Given the description of an element on the screen output the (x, y) to click on. 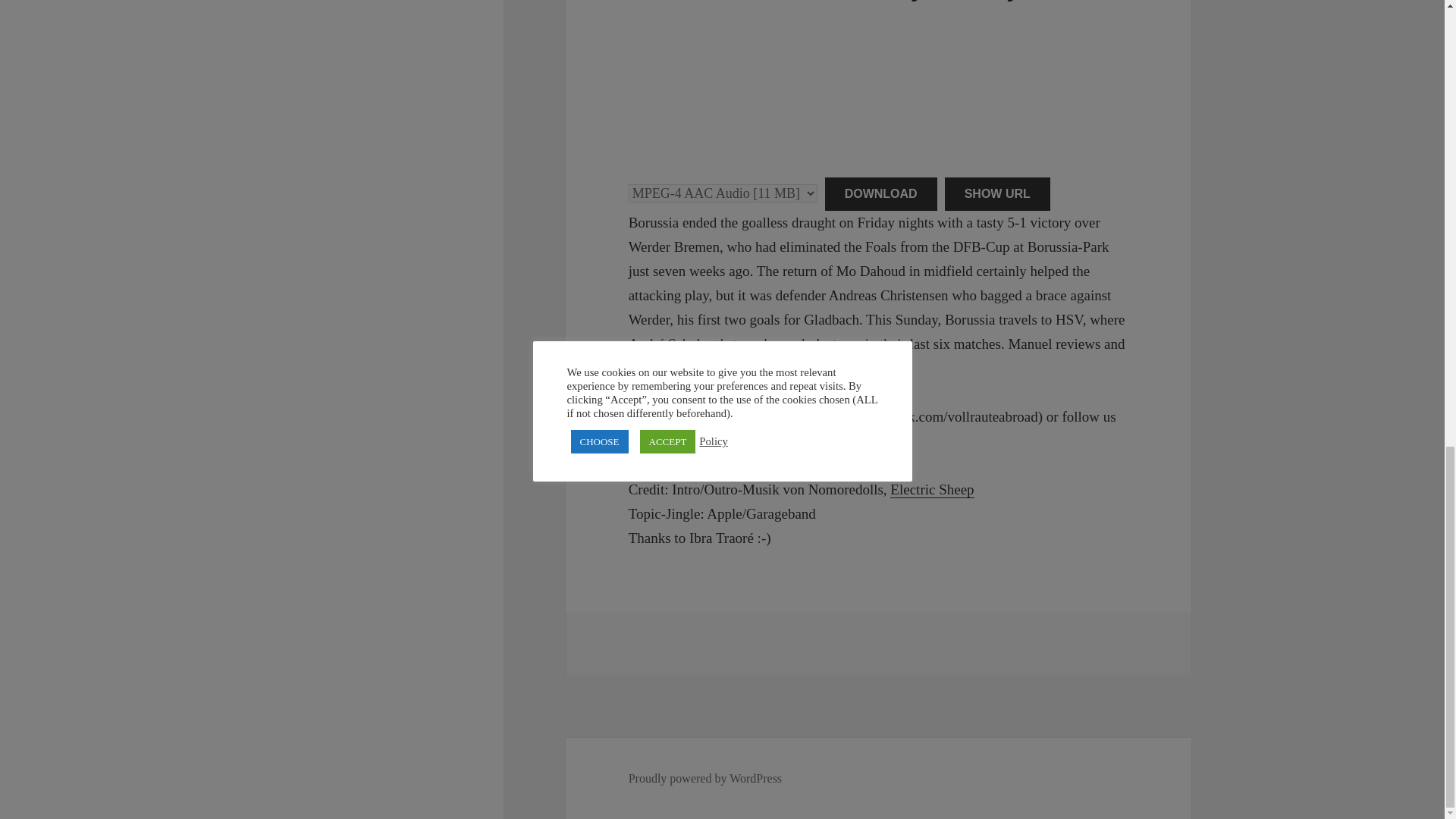
DOWNLOAD (881, 193)
SHOW URL (996, 193)
Proudly powered by WordPress (704, 778)
Electric Sheep (931, 489)
